Given the description of an element on the screen output the (x, y) to click on. 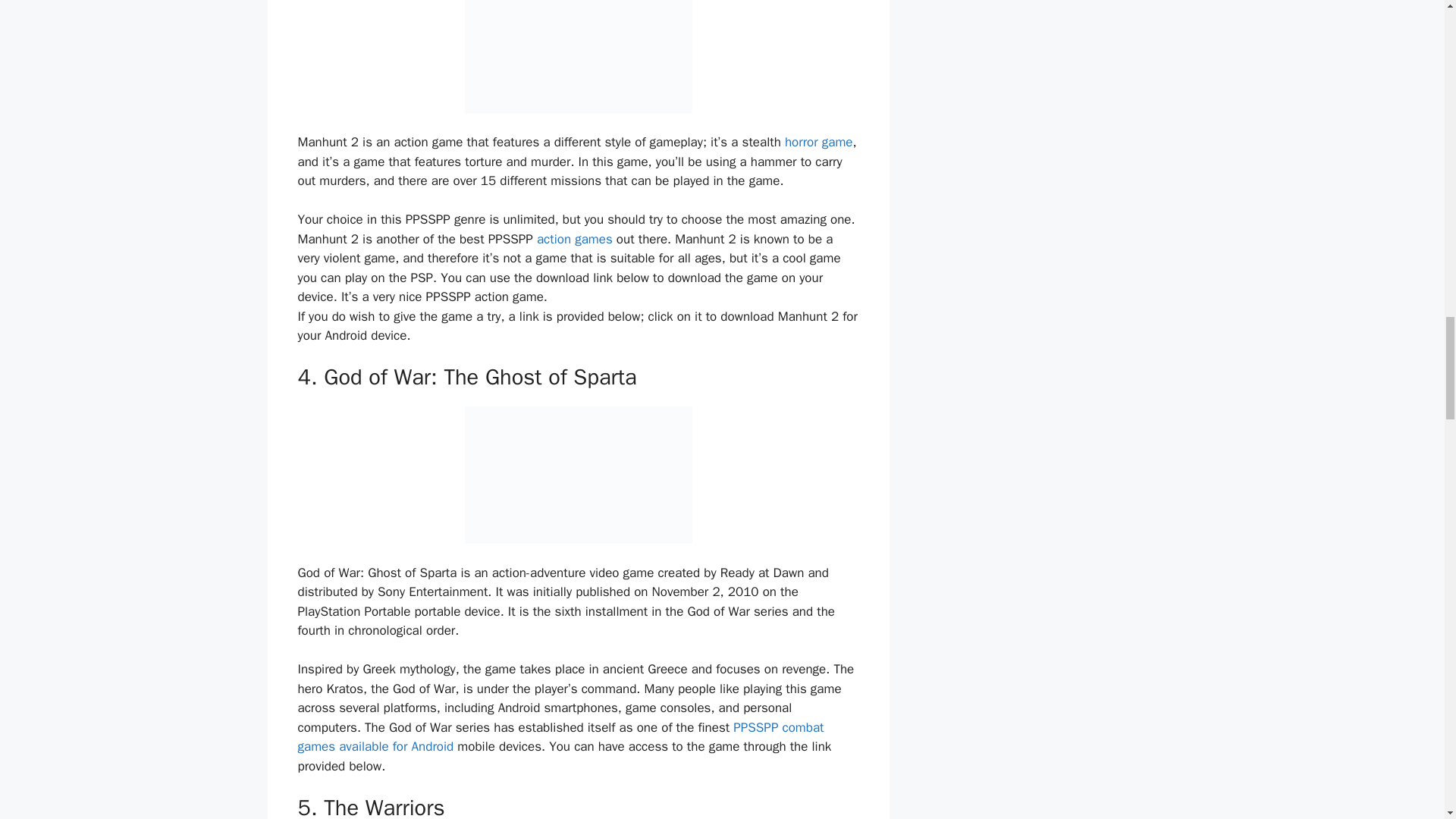
horror game (818, 141)
action games (574, 238)
PPSSPP combat games available for Android (560, 737)
